Given the description of an element on the screen output the (x, y) to click on. 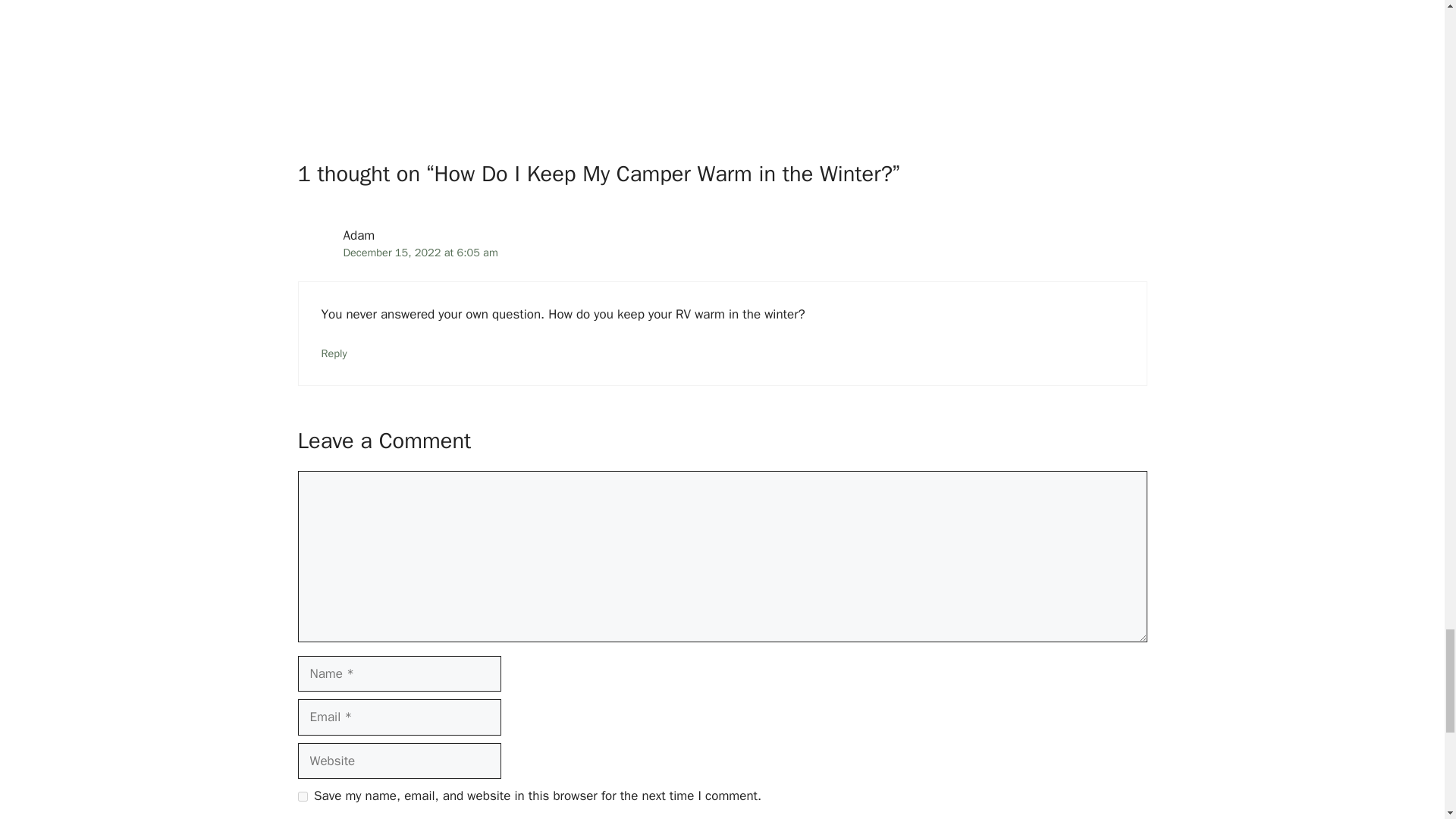
December 15, 2022 at 6:05 am (419, 252)
yes (302, 796)
